Given the description of an element on the screen output the (x, y) to click on. 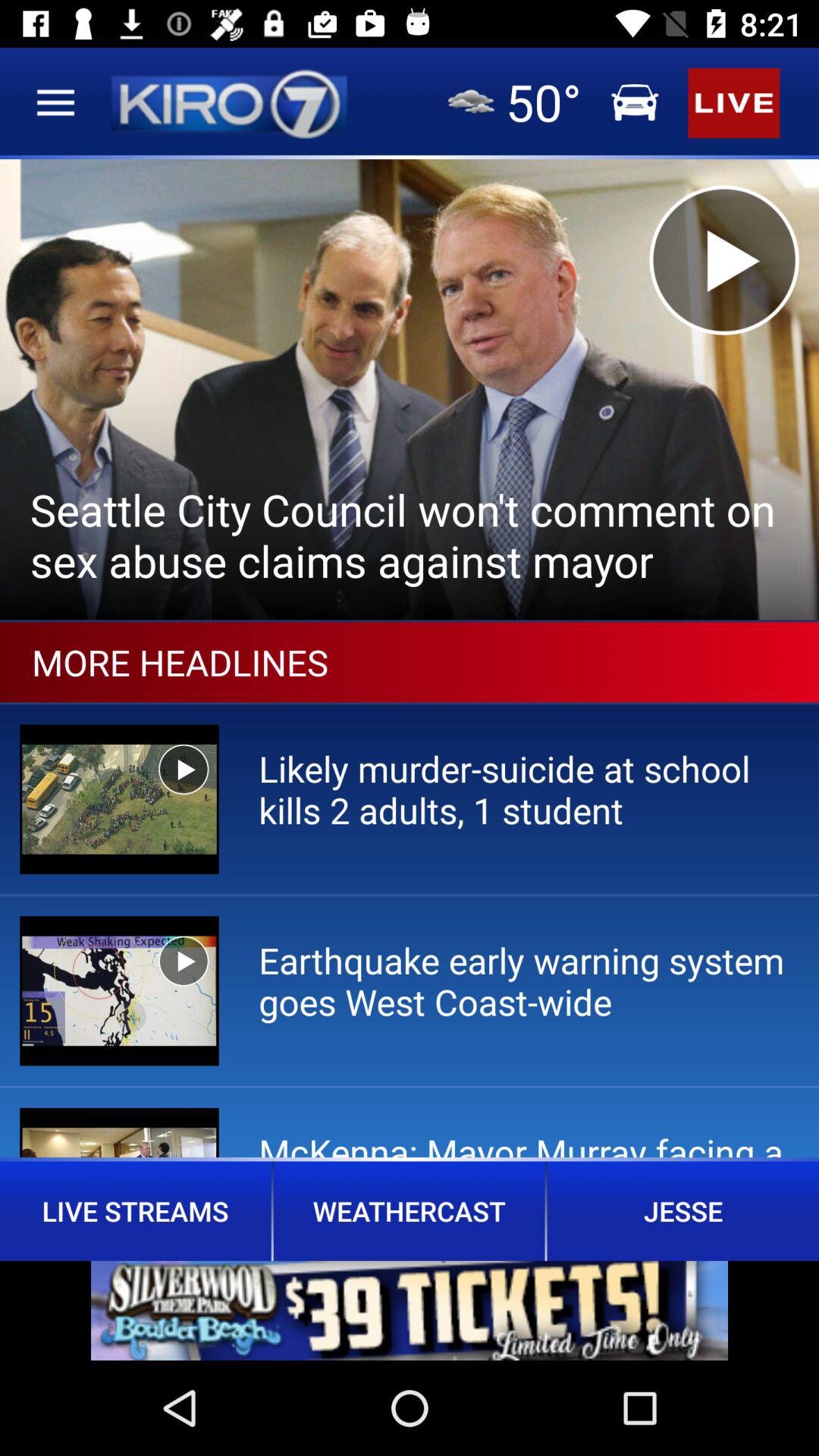
select the text jesse which is below the page (683, 1210)
select the last image below the more headlines (119, 1132)
select the third image below the more headlines (119, 1132)
select the play icon in the first block below the more headlines (183, 769)
click the pause icon in the second block below the more headlines (183, 961)
select the image below the more headlines (119, 800)
select the logo which is beside the menu icon (228, 102)
select the second image below the more headlines (119, 990)
select the play icon which is below the live (724, 260)
